Given the description of an element on the screen output the (x, y) to click on. 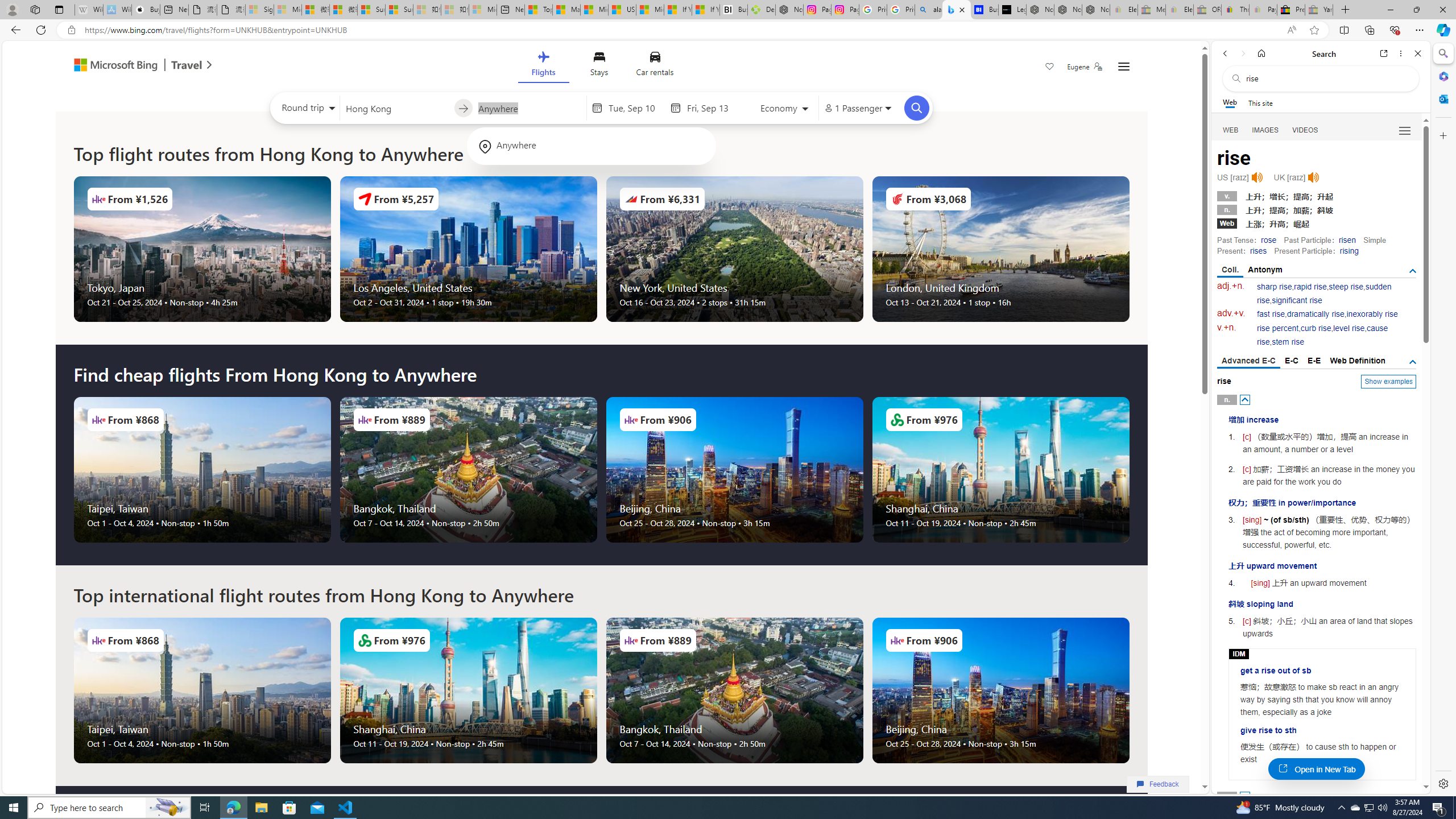
Airlines Logo (896, 640)
cause rise (1322, 335)
Web Definition (1357, 360)
significant rise (1296, 300)
Advanced E-C (1248, 361)
rising (1348, 250)
